Given the description of an element on the screen output the (x, y) to click on. 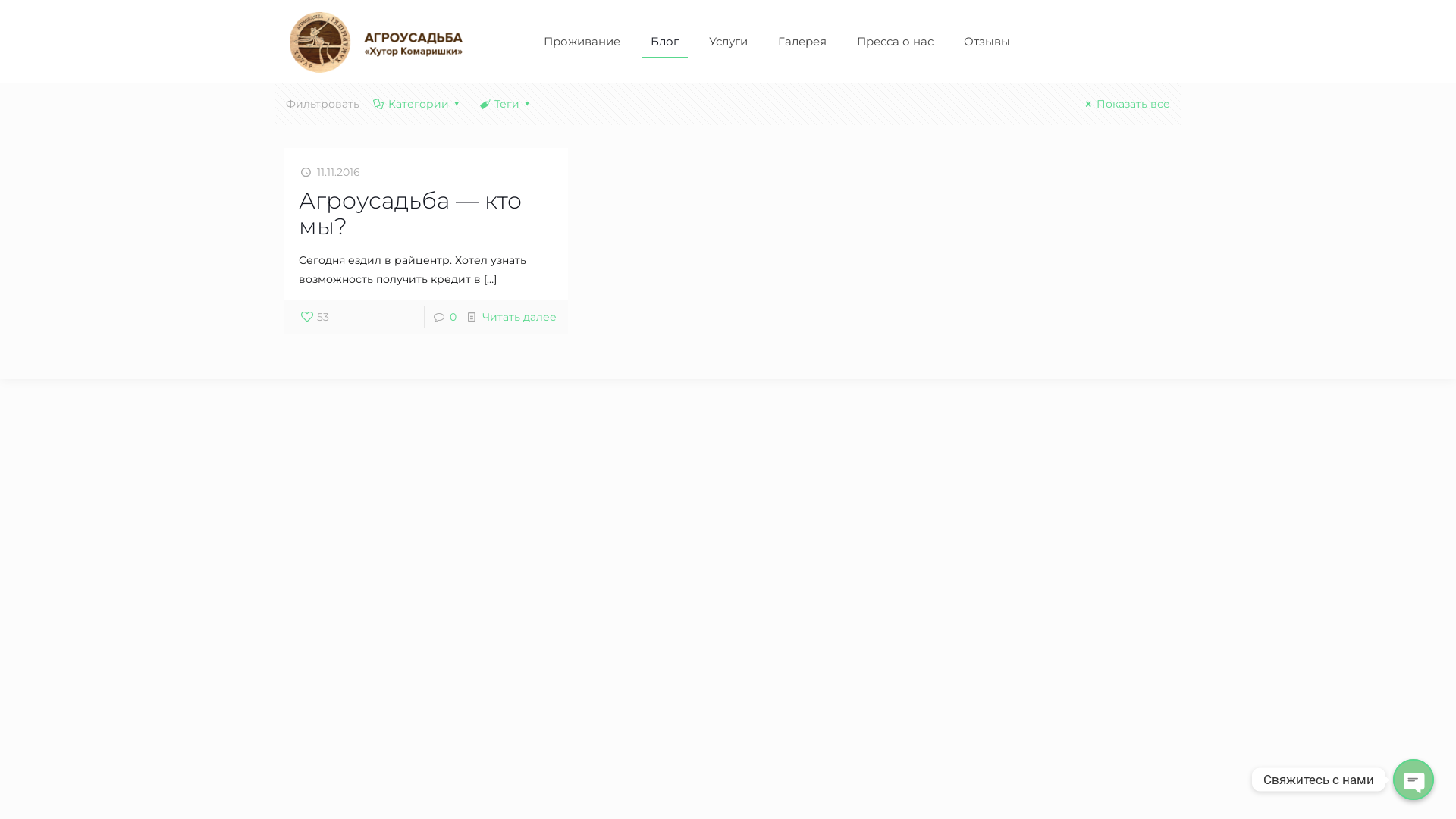
53 Element type: text (313, 316)
0 Element type: text (452, 316)
